Given the description of an element on the screen output the (x, y) to click on. 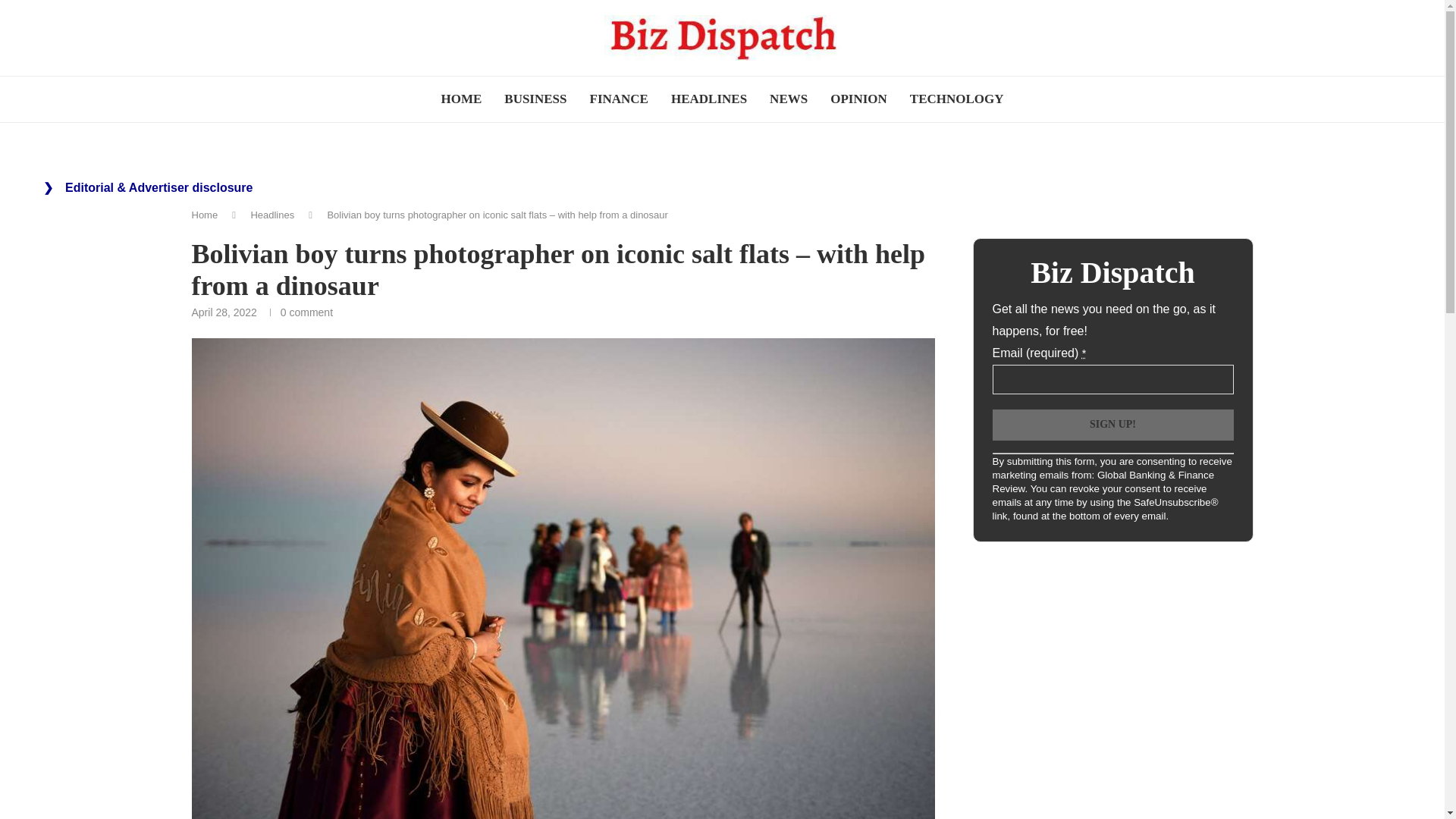
Sign up! (1112, 424)
FINANCE (618, 99)
Headlines (272, 214)
BUSINESS (535, 99)
NEWS (788, 99)
Home (203, 214)
HOME (461, 99)
TECHNOLOGY (956, 99)
HEADLINES (708, 99)
